Given the description of an element on the screen output the (x, y) to click on. 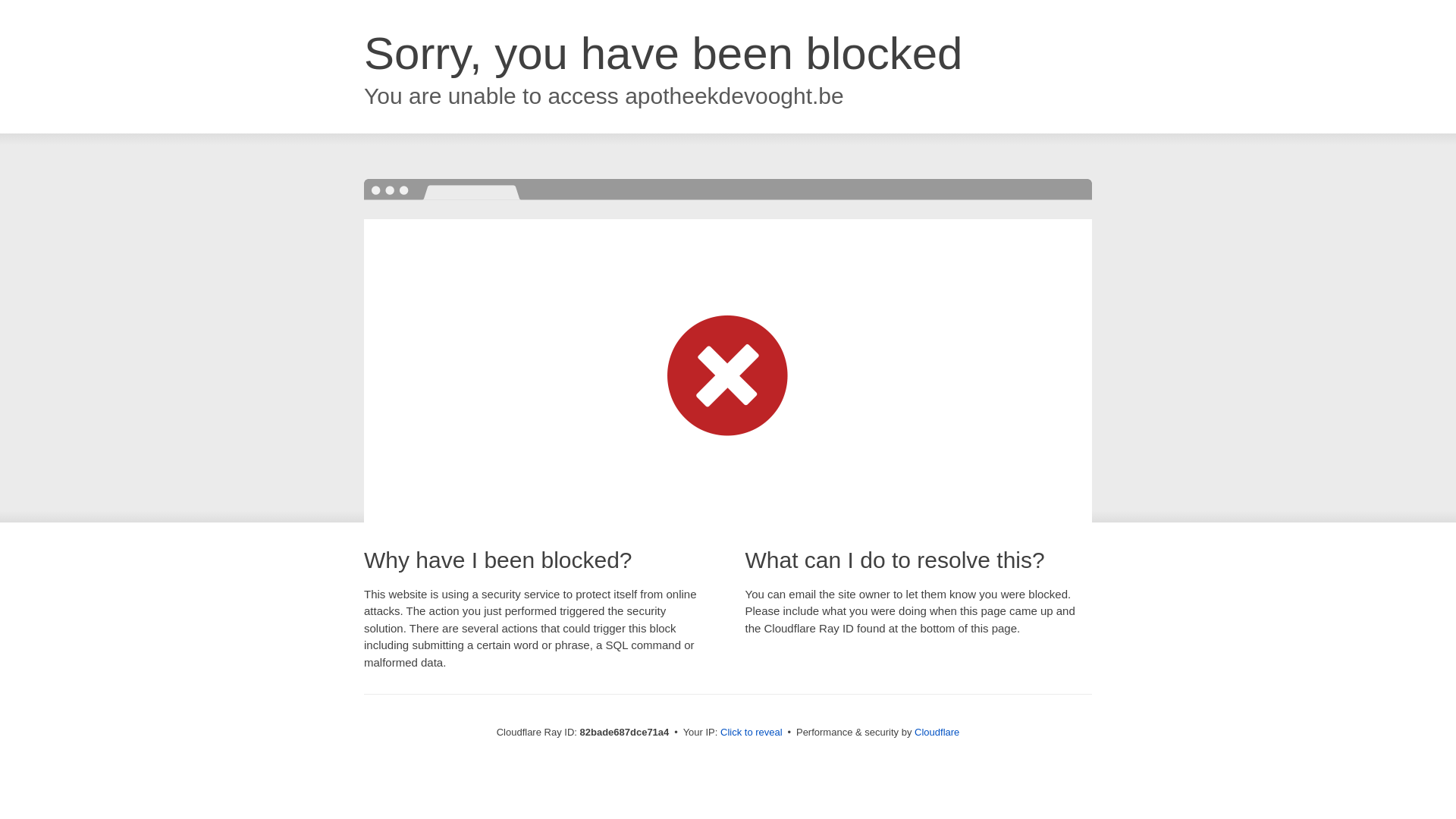
Cloudflare Element type: text (936, 731)
Click to reveal Element type: text (751, 732)
